Given the description of an element on the screen output the (x, y) to click on. 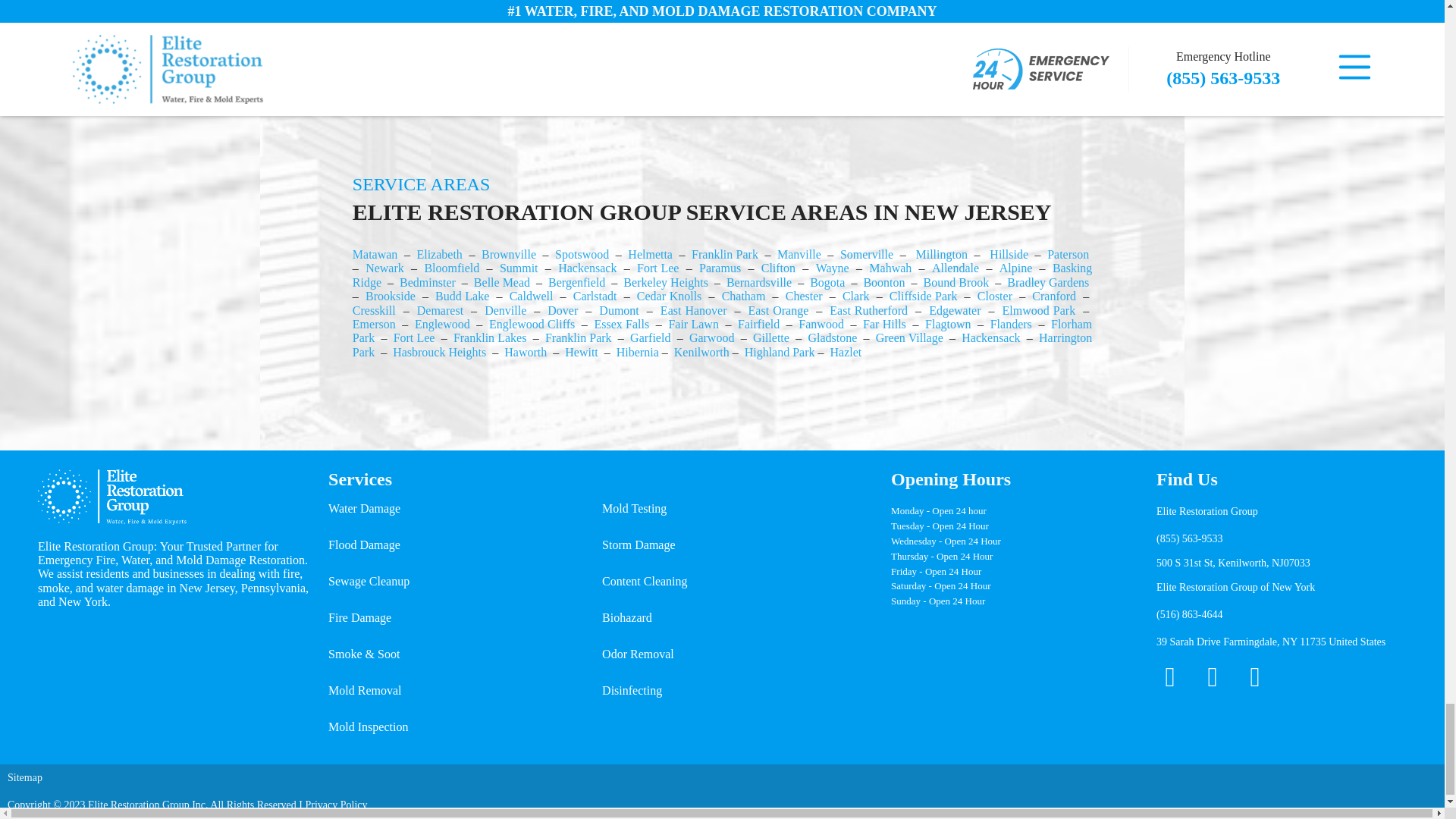
Hillside (1008, 254)
Helmetta (649, 254)
Somerville (866, 254)
Hackensack (586, 267)
Brownville (508, 254)
Matawan (374, 254)
Bloomfield (451, 267)
Summit (518, 267)
Spotswood (581, 254)
Elizabeth (438, 254)
Newark (384, 267)
Franklin Park (724, 254)
Millington (941, 254)
Manville (799, 254)
Paterson (1067, 254)
